Given the description of an element on the screen output the (x, y) to click on. 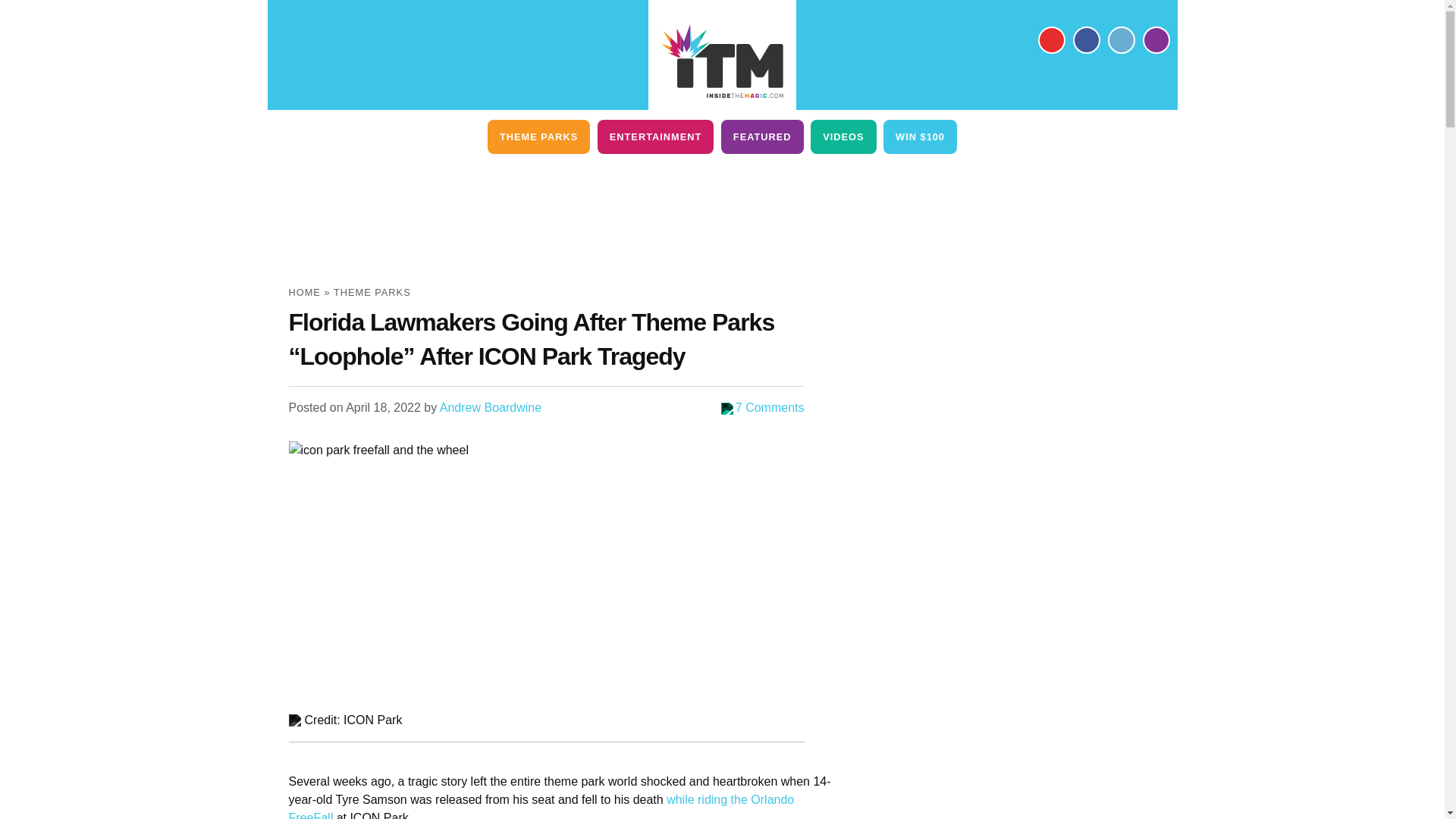
Twitter (1120, 40)
YouTube (1050, 40)
THEME PARKS (538, 136)
Search (1155, 40)
Facebook (1085, 40)
ENTERTAINMENT (655, 136)
FEATURED (761, 136)
